Given the description of an element on the screen output the (x, y) to click on. 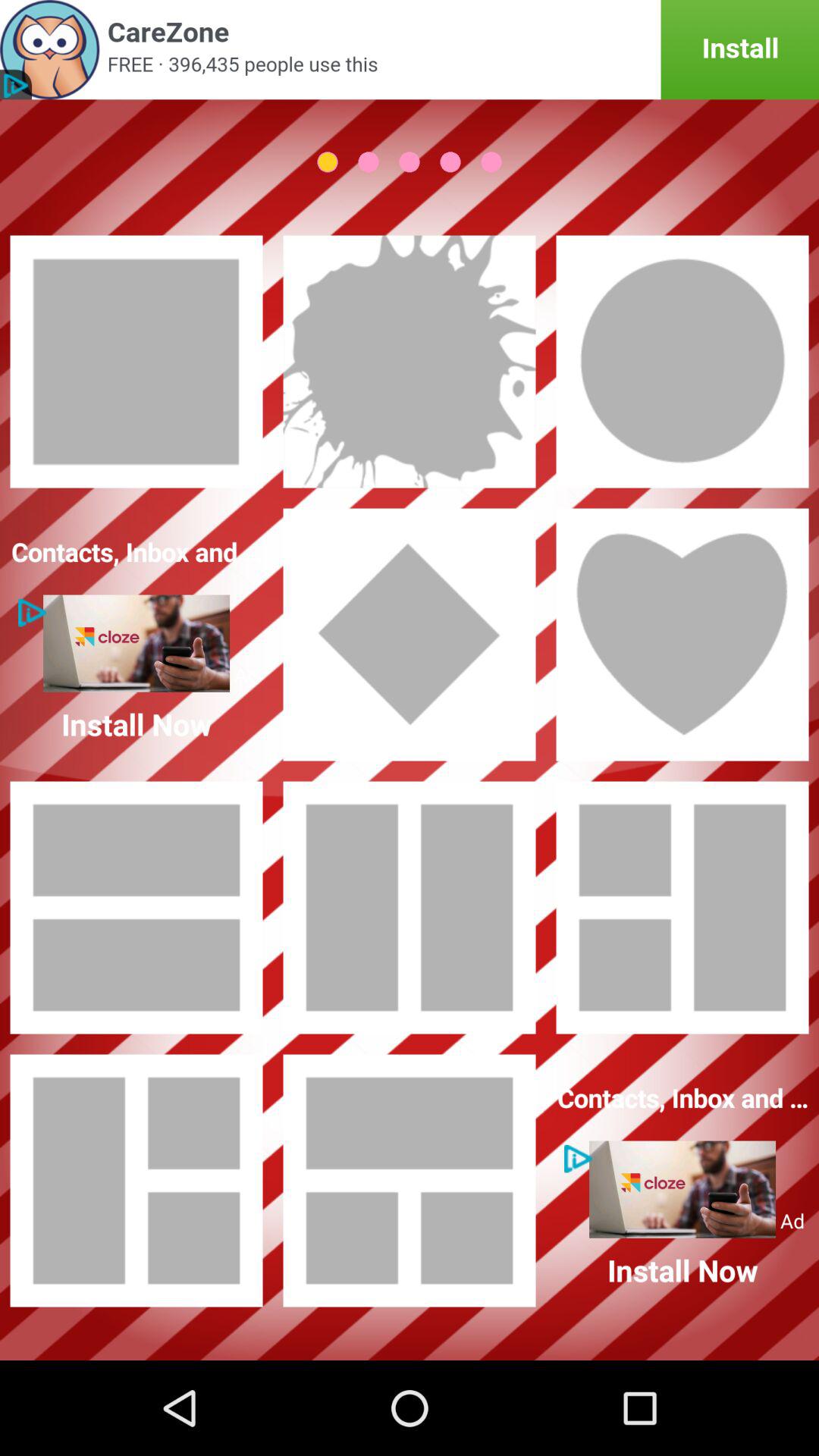
this image was rock it (409, 361)
